Given the description of an element on the screen output the (x, y) to click on. 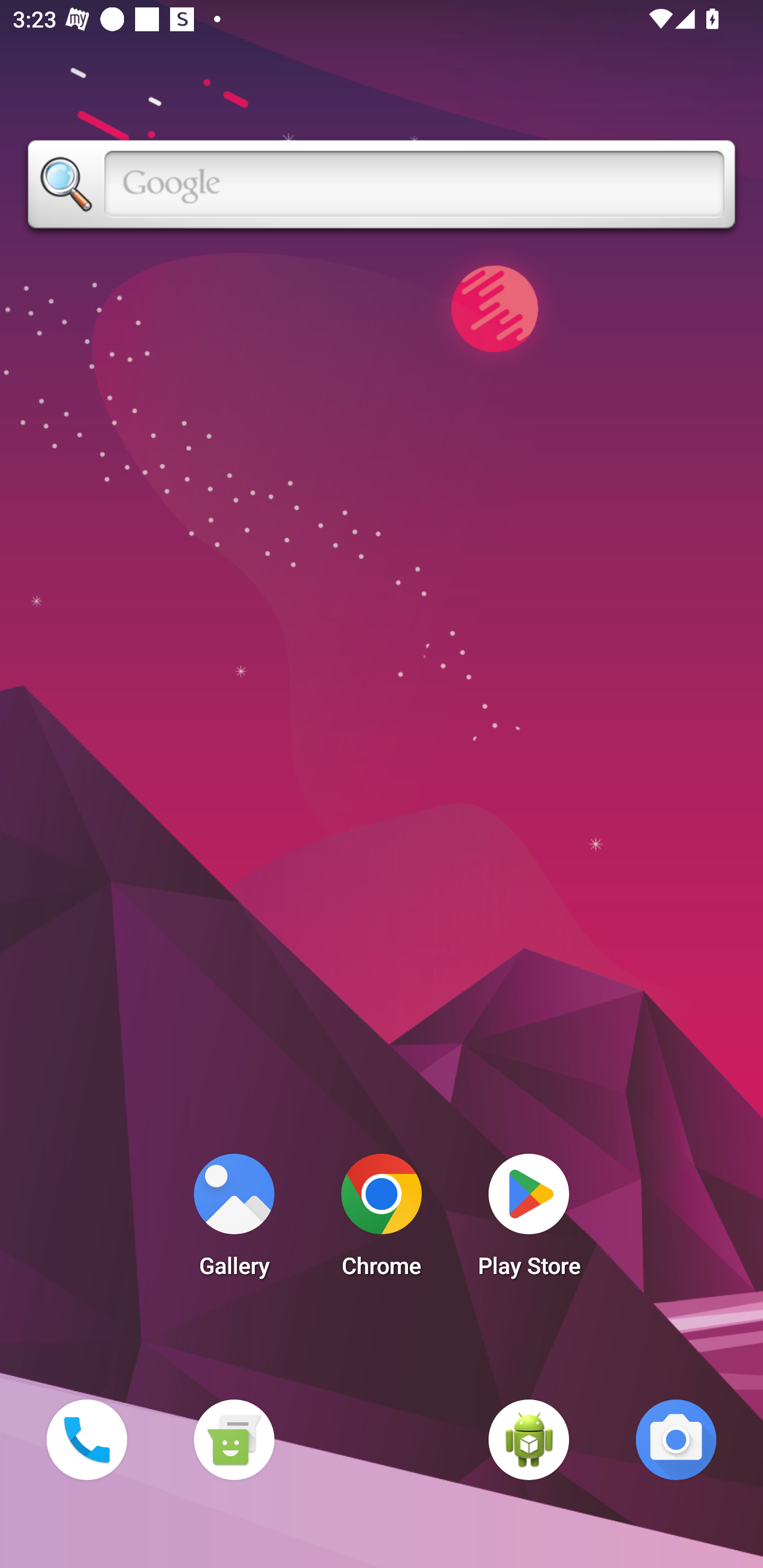
Gallery (233, 1220)
Chrome (381, 1220)
Play Store (528, 1220)
Phone (86, 1439)
Messaging (233, 1439)
WebView Browser Tester (528, 1439)
Camera (676, 1439)
